Given the description of an element on the screen output the (x, y) to click on. 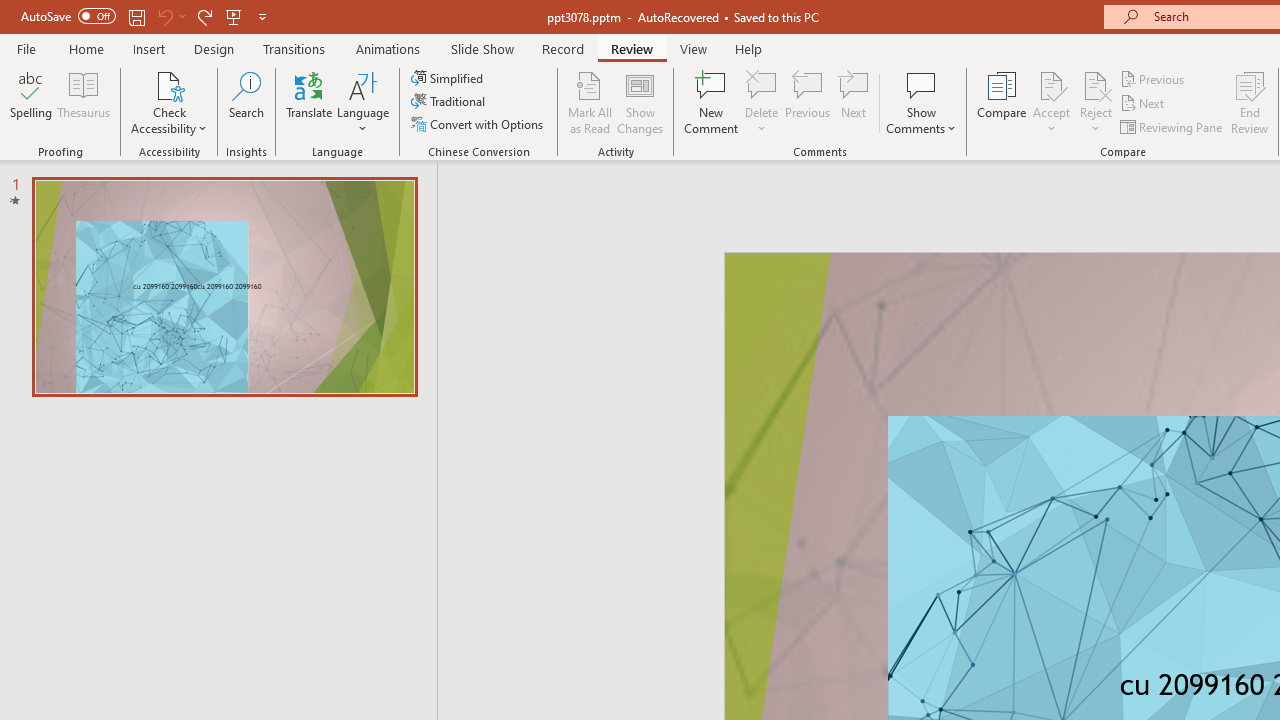
Compare (1002, 102)
Show Changes (639, 102)
